Given the description of an element on the screen output the (x, y) to click on. 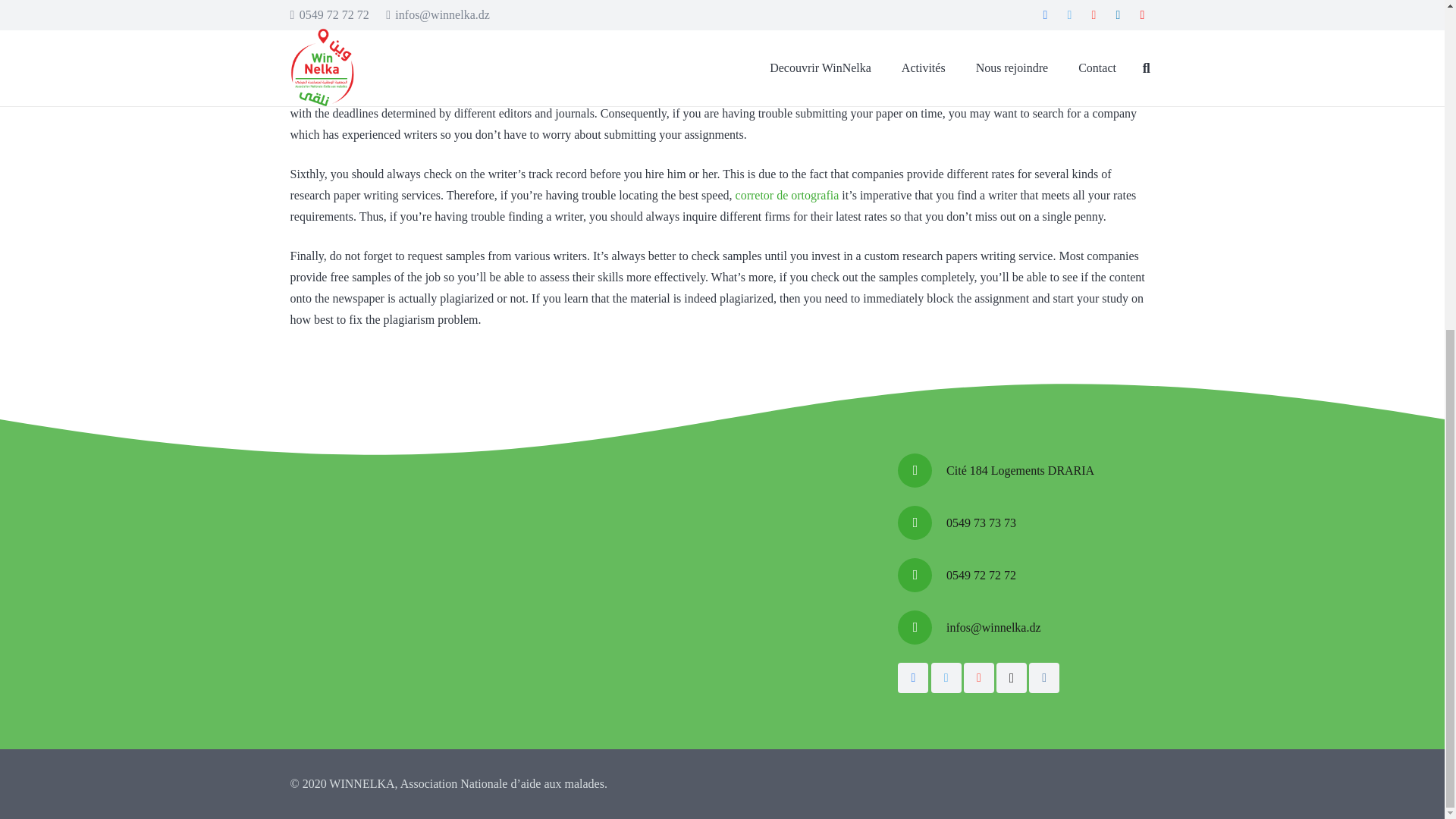
corretor de ortografia (787, 195)
Vkontakte (1044, 677)
Facebook (913, 677)
Instagram (1010, 677)
Google (978, 677)
Twitter (945, 677)
0549 73 73 73 (981, 522)
